Given the description of an element on the screen output the (x, y) to click on. 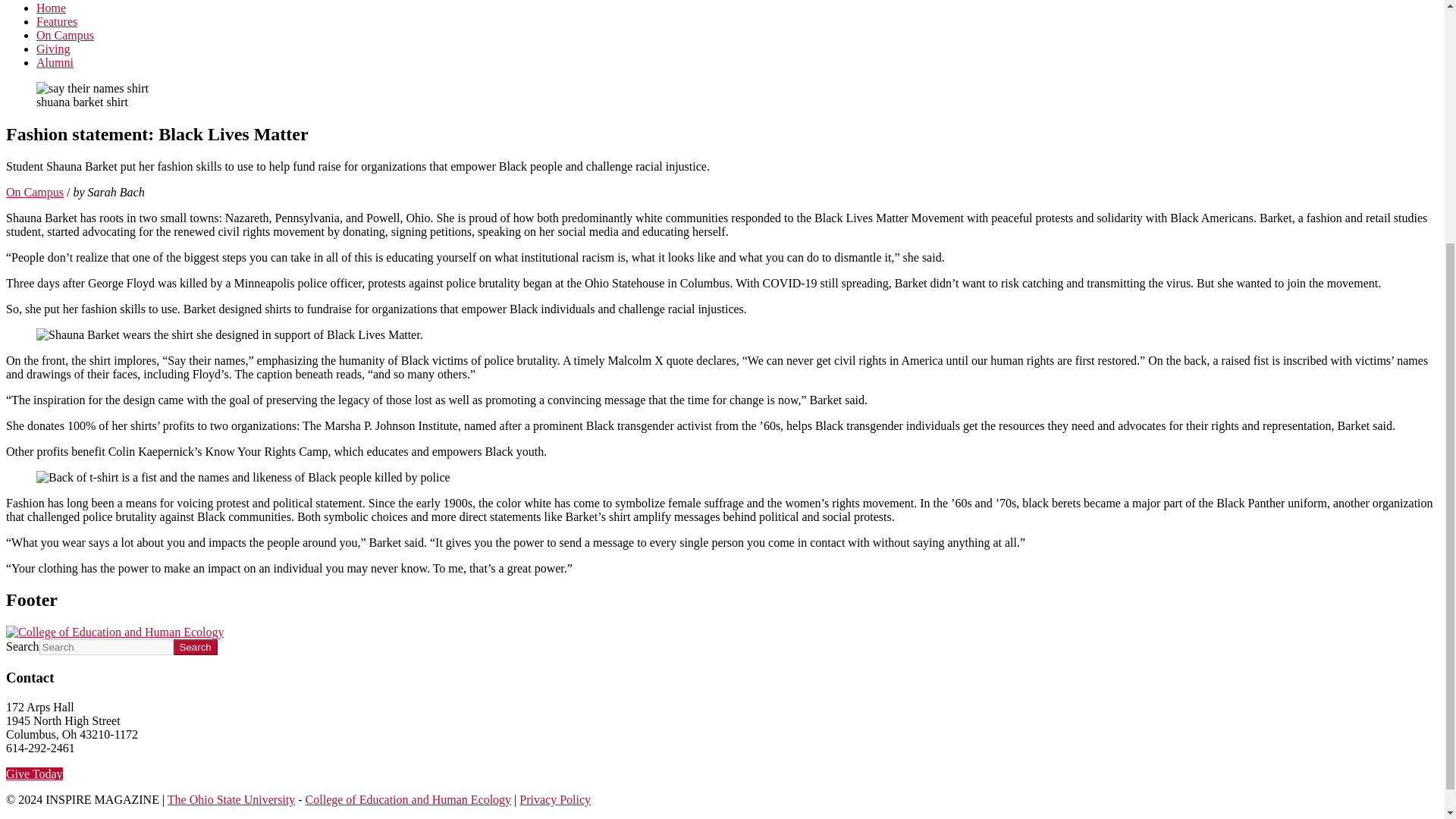
On Campus (65, 34)
Search (194, 647)
Giving (52, 48)
Give Today (33, 773)
The Ohio State University (231, 799)
On Campus (34, 192)
Privacy Policy (555, 799)
Home (50, 7)
College of Education and Human Ecology (408, 799)
Search (194, 647)
Search (194, 647)
Features (56, 21)
Alumni (55, 62)
